Given the description of an element on the screen output the (x, y) to click on. 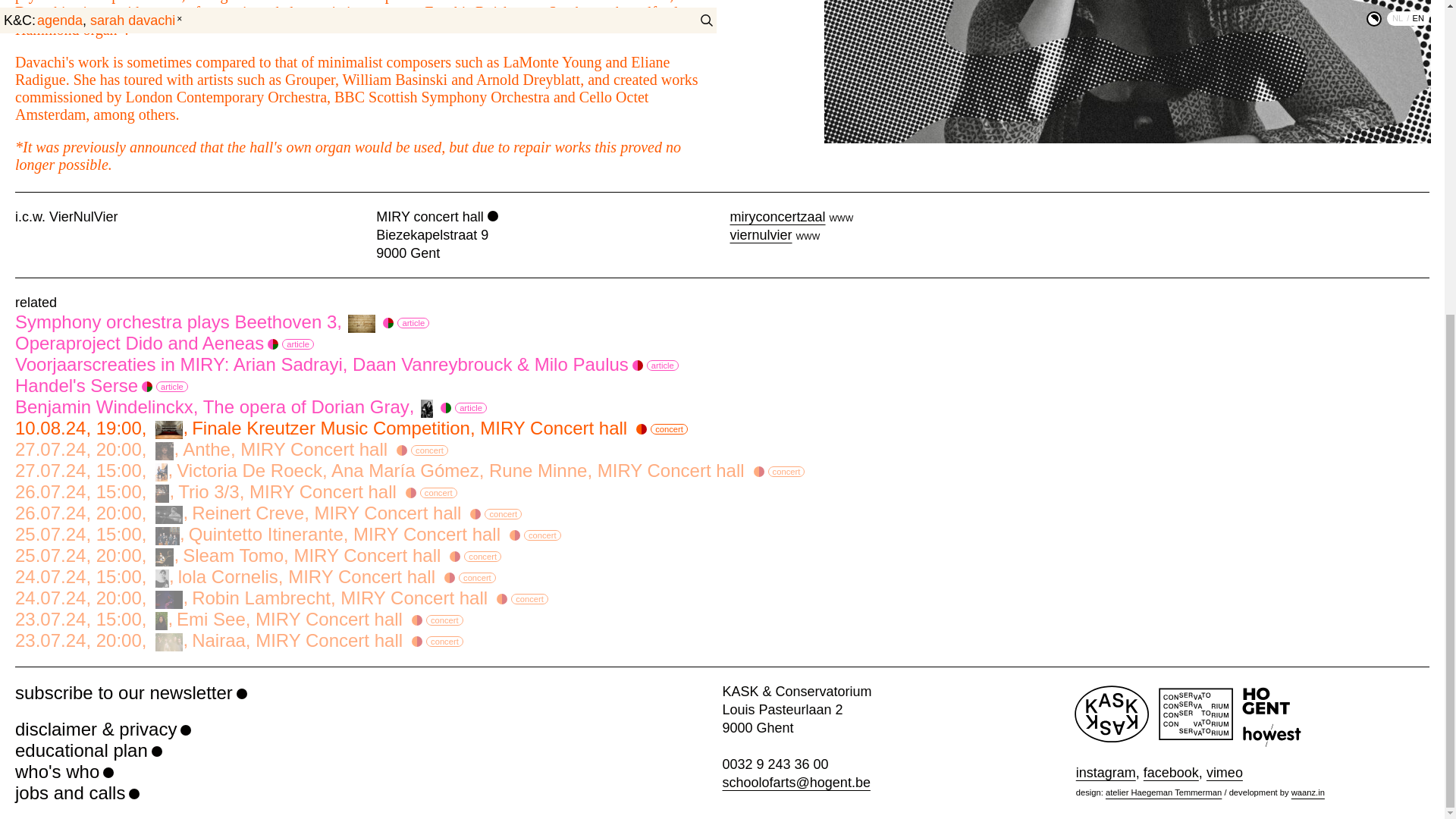
jobs and calls (721, 322)
MIRY concert hall (240, 640)
subscribe to our newsletter (256, 577)
miryconcertzaal (259, 555)
who's who (76, 792)
